Given the description of an element on the screen output the (x, y) to click on. 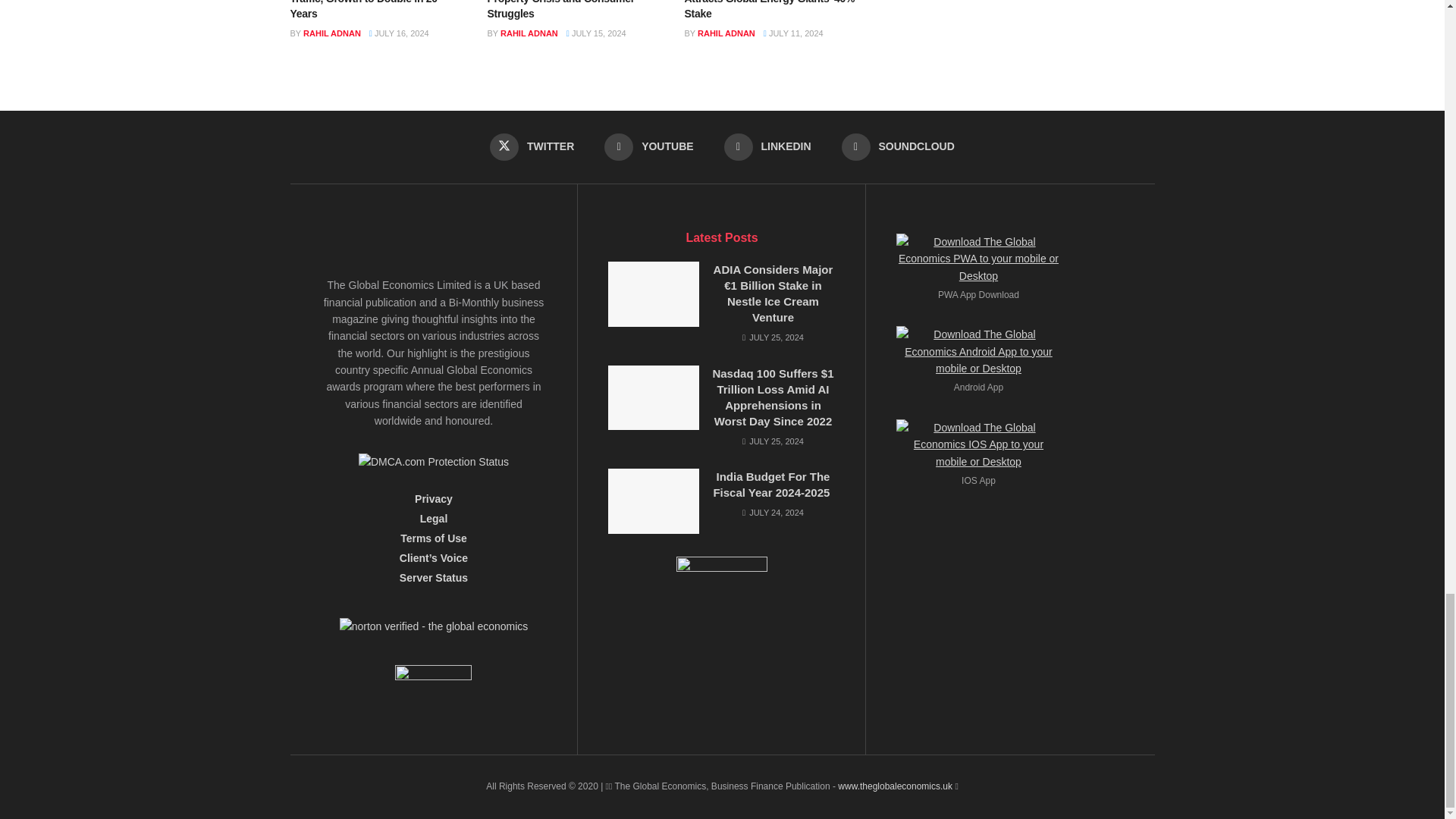
DMCA.com Protection Status (433, 460)
The Global Economics UK (895, 786)
Norton Verified (433, 631)
